Given the description of an element on the screen output the (x, y) to click on. 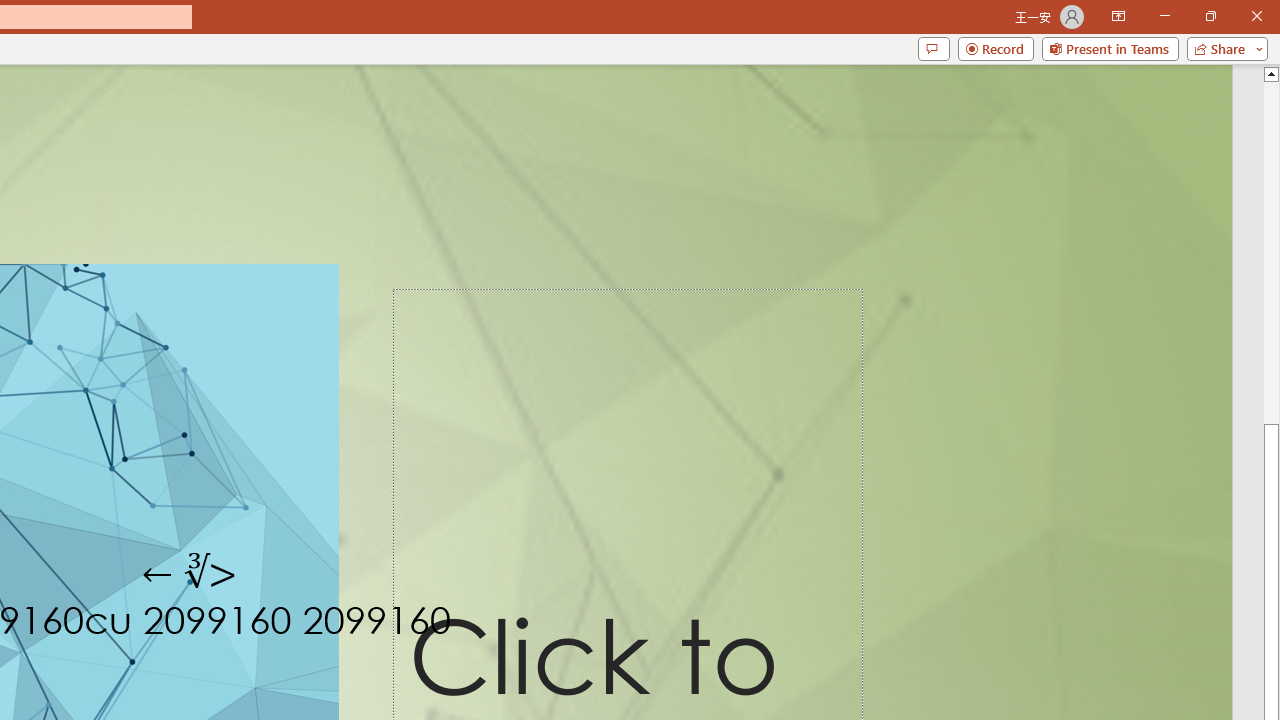
TextBox 7 (189, 573)
